Given the description of an element on the screen output the (x, y) to click on. 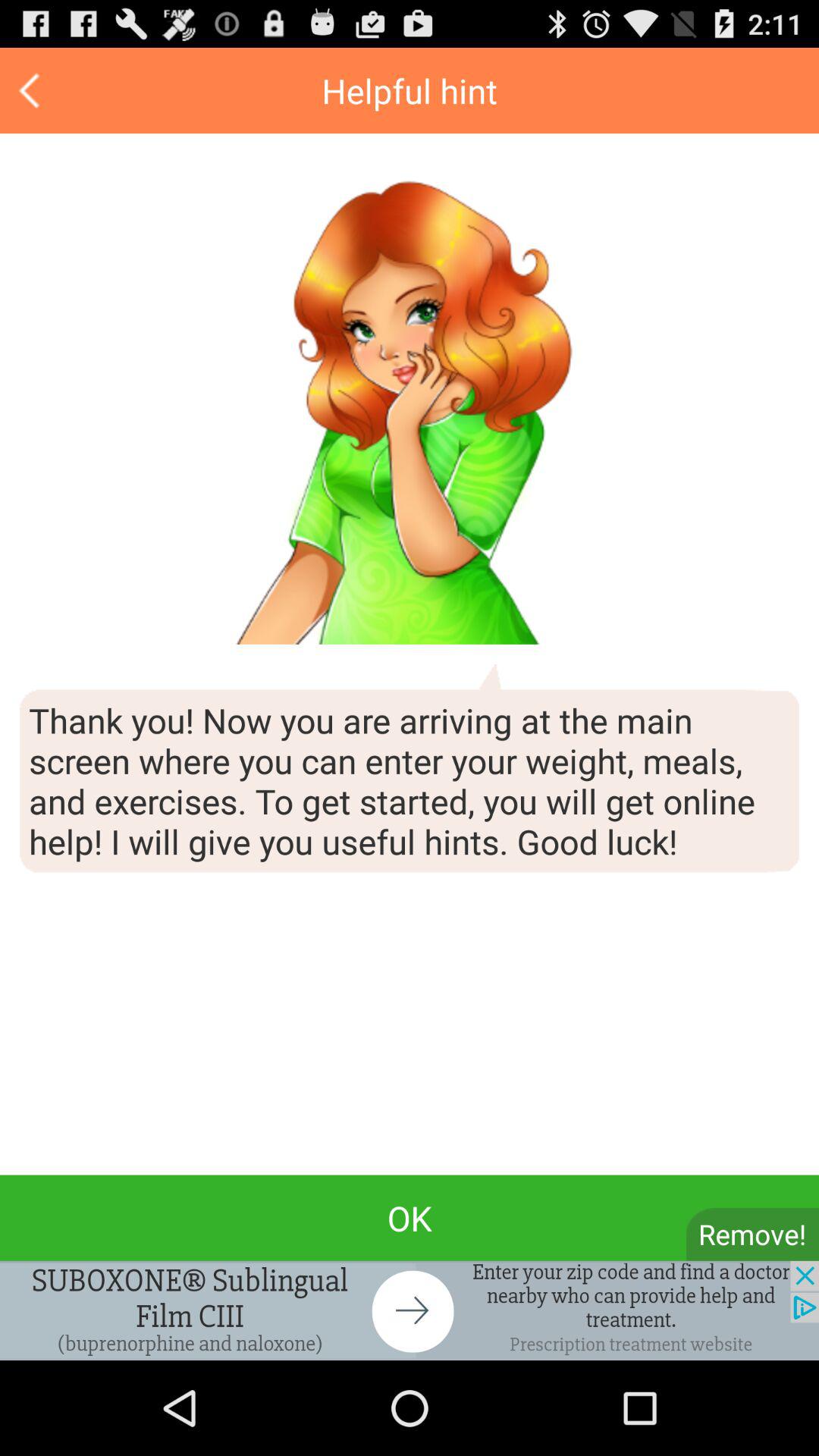
banner advertisement (409, 1310)
